Given the description of an element on the screen output the (x, y) to click on. 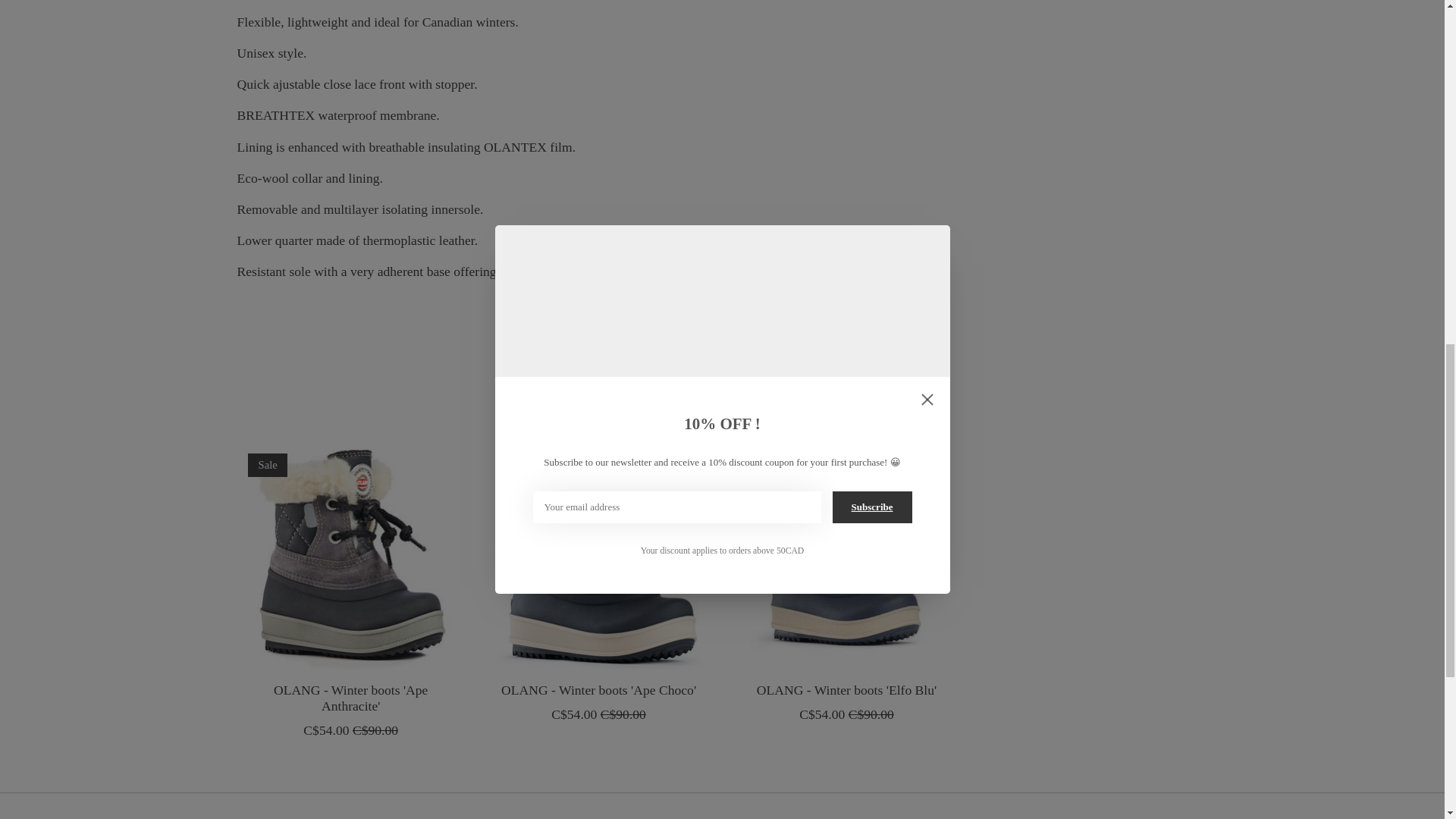
Olang OLANG - Winter boots 'Ape Anthracite' (349, 556)
Olang OLANG - Winter boots 'Ape Choco' (597, 556)
Olang OLANG - Winter boots 'Elfo Blu' (845, 556)
